Given the description of an element on the screen output the (x, y) to click on. 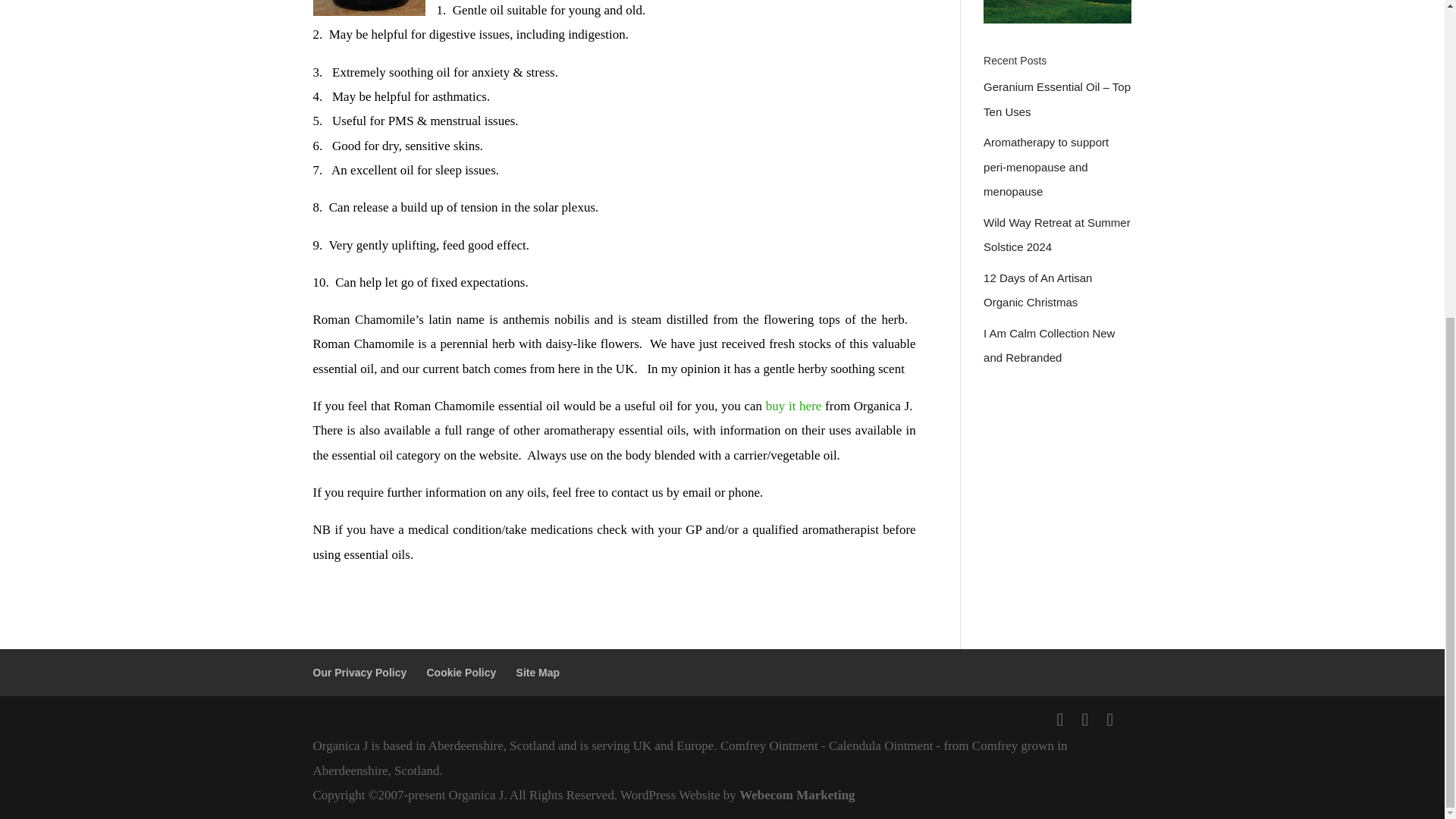
Wild Way Retreat at Summer Solstice 2024 (1057, 234)
12 Days of An Artisan Organic Christmas (1038, 289)
I Am Calm Collection New and Rebranded (1049, 344)
buy it here (793, 405)
Aromatherapy to support peri-menopause and menopause (1046, 166)
